Given the description of an element on the screen output the (x, y) to click on. 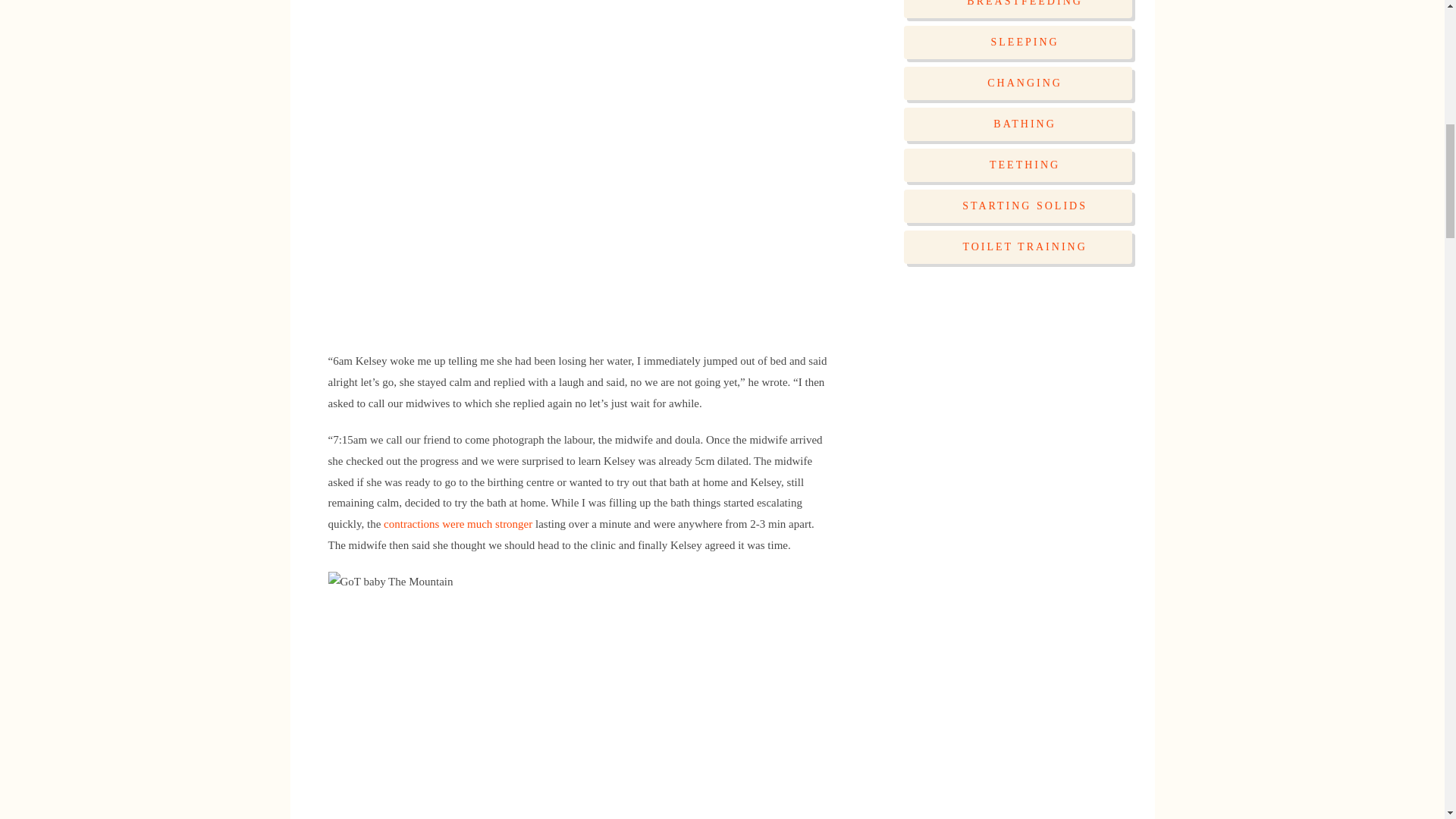
BATHING (1017, 123)
BREASTFEEDING (1017, 9)
SLEEPING (1017, 41)
TEETHING (1017, 164)
CHANGING (1017, 82)
contractions were much stronger (458, 523)
